Given the description of an element on the screen output the (x, y) to click on. 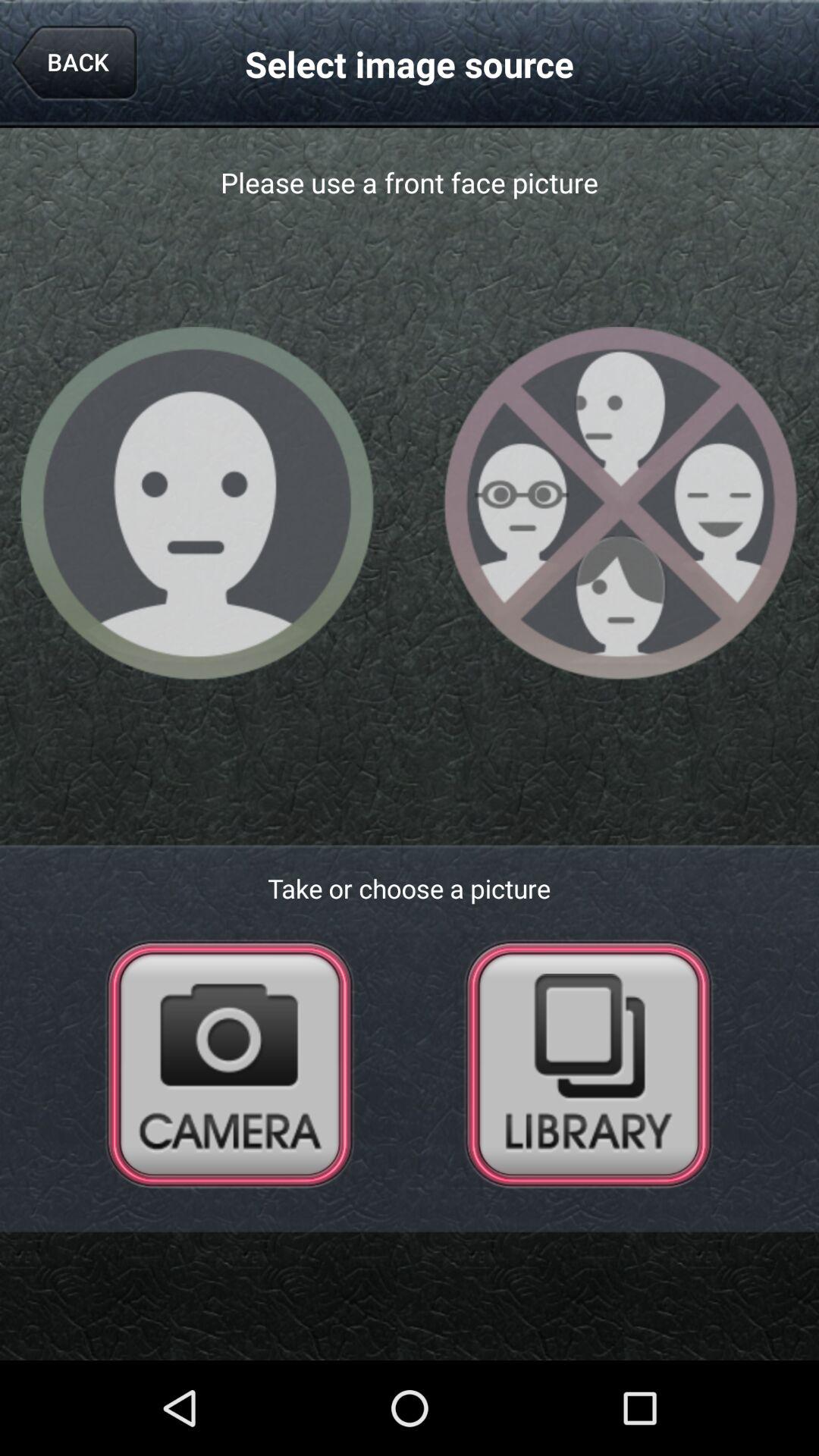
select icon at the bottom (409, 1282)
